Given the description of an element on the screen output the (x, y) to click on. 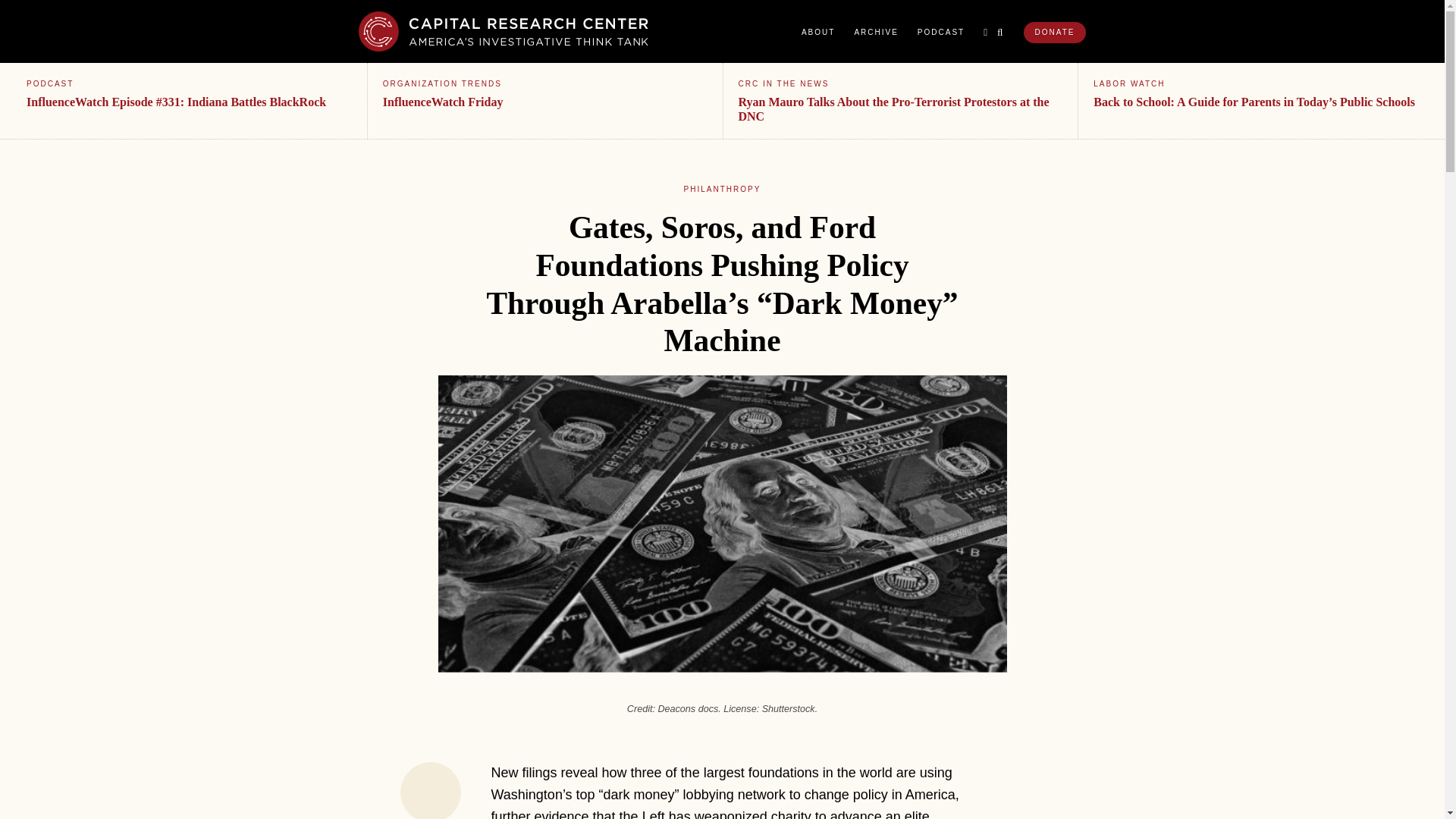
LABOR WATCH (1128, 83)
PHILANTHROPY (722, 189)
CRC IN THE NEWS (783, 83)
PODCAST (940, 32)
DONATE (1054, 32)
ORGANIZATION TRENDS (442, 83)
PODCAST (50, 83)
ARCHIVE (875, 32)
ABOUT (818, 32)
